Given the description of an element on the screen output the (x, y) to click on. 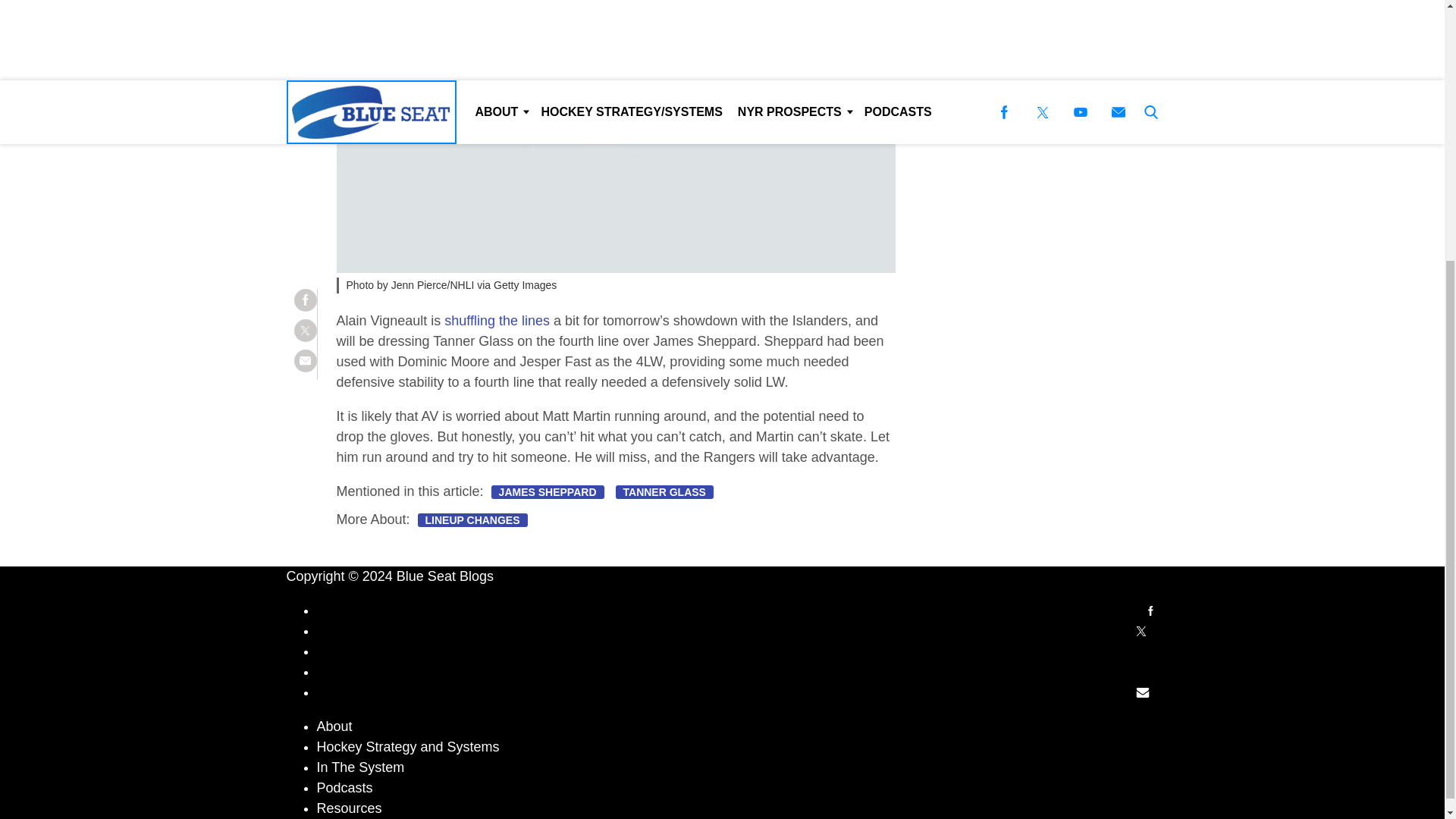
Follow us on Facebook (1149, 610)
Become a Patron! (972, 46)
JAMES SHEPPARD (548, 491)
Twitter (1141, 631)
LINEUP CHANGES (472, 520)
Facebook (1149, 610)
Envelope (1142, 692)
Follow us on Twitter (1141, 630)
Send us an email (1142, 692)
Hockey Strategy and Systems (408, 746)
